Given the description of an element on the screen output the (x, y) to click on. 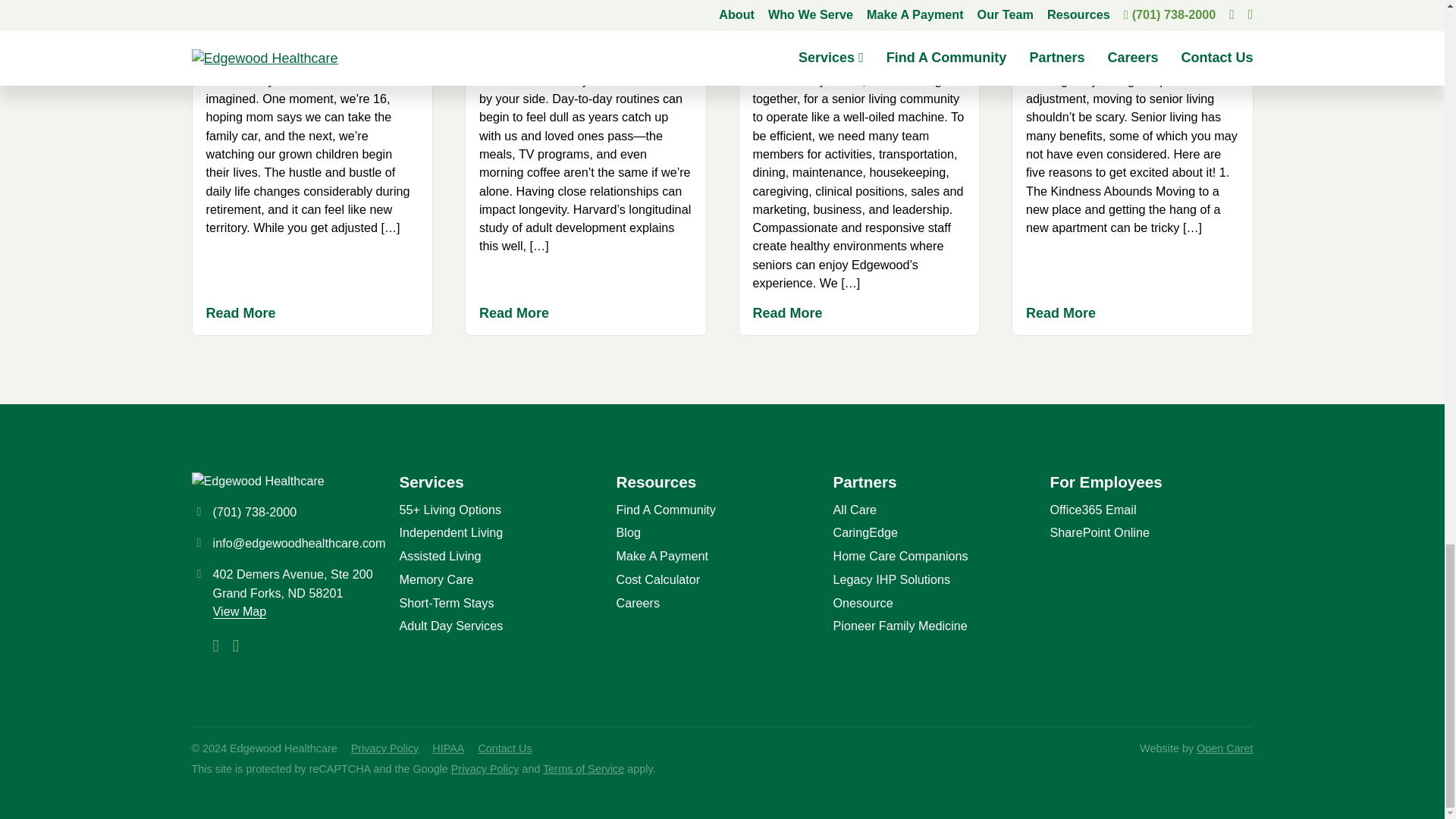
Short-Term Stays (446, 603)
Blog (627, 532)
Find A Community (665, 509)
Assisted Living (439, 555)
Adult Day Services (450, 626)
Memory Care (436, 579)
Independent Living (450, 532)
View Map (239, 611)
